Given the description of an element on the screen output the (x, y) to click on. 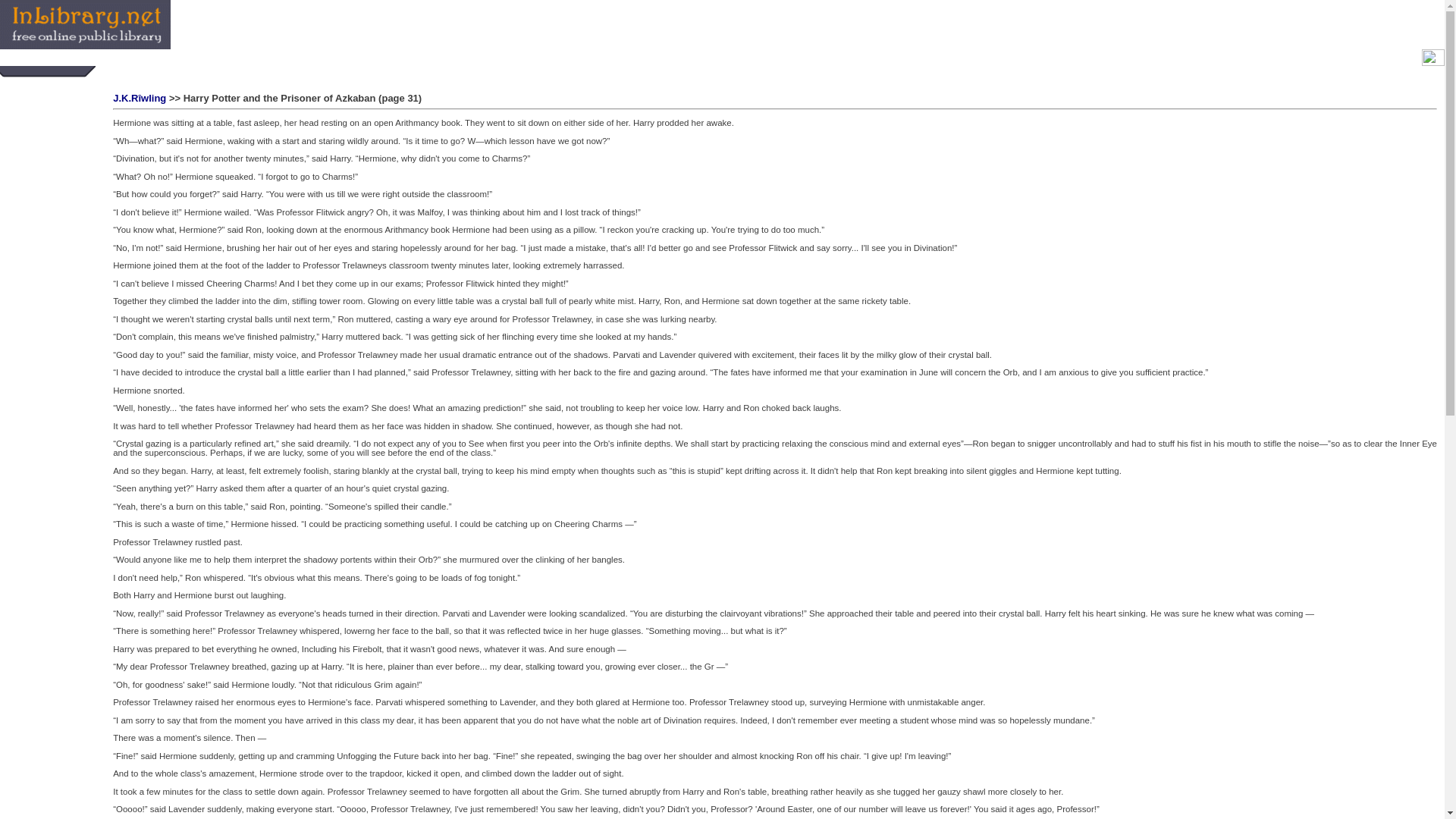
SEARCH (252, 57)
SITEMAP (306, 57)
TOP (279, 57)
HOME (222, 57)
